Given the description of an element on the screen output the (x, y) to click on. 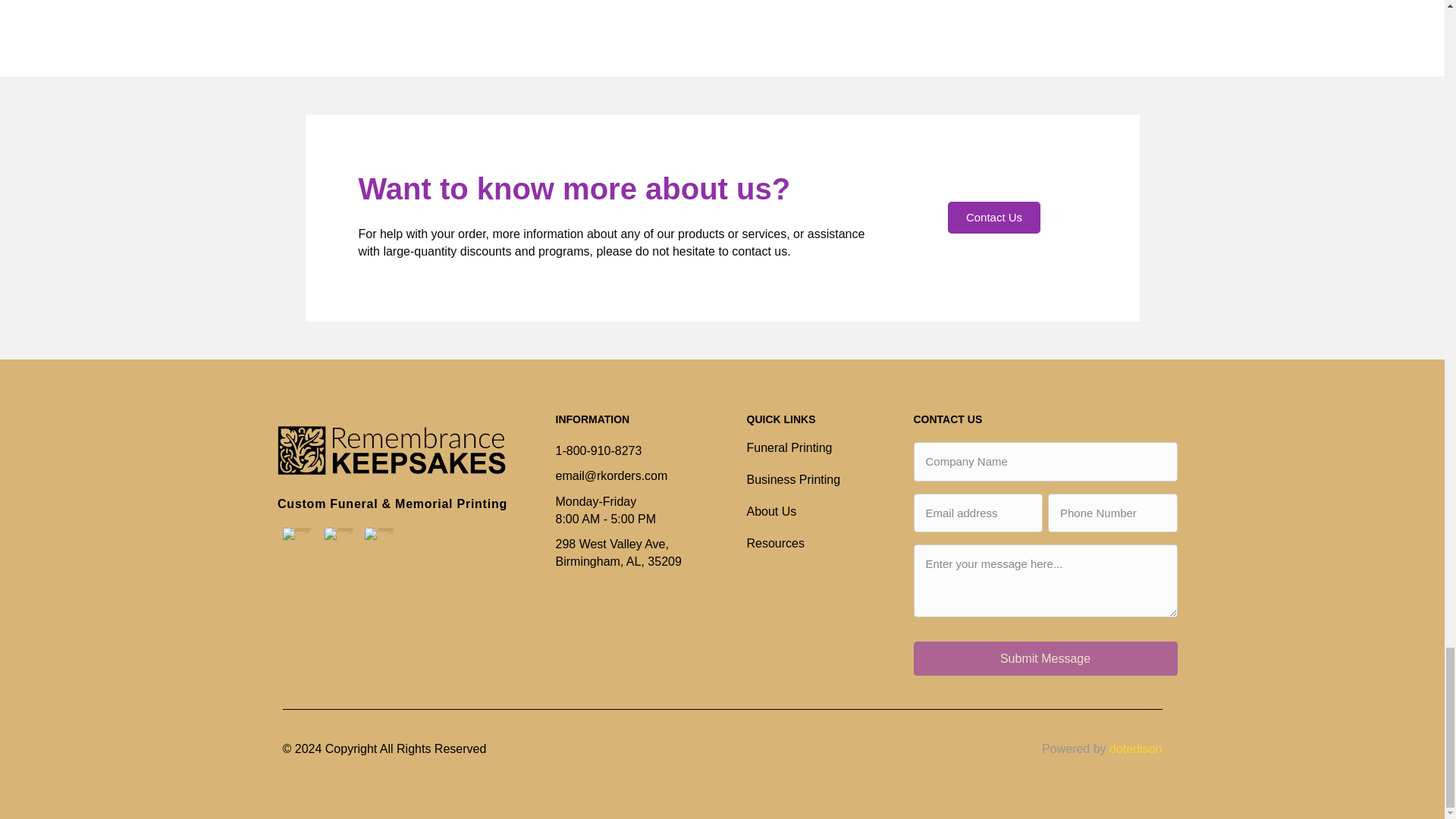
1-800-910-8273 (598, 450)
Funeral Printing (821, 457)
Submit Message (1044, 658)
About Us (821, 521)
Birmingham, AL, 35209 (617, 561)
Contact Us (994, 217)
298 West Valley Ave, (611, 543)
Business Printing (821, 489)
